Given the description of an element on the screen output the (x, y) to click on. 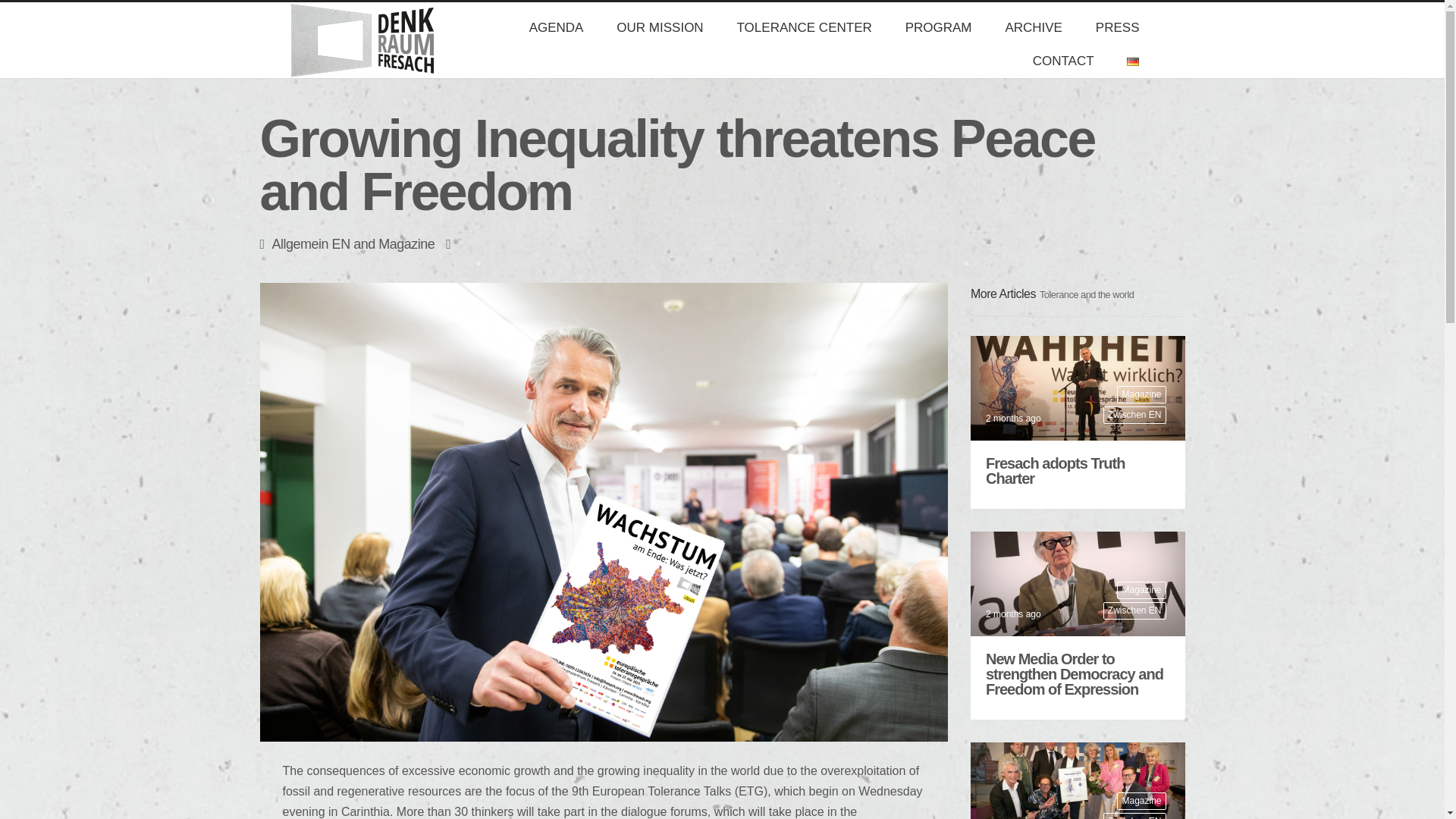
OUR MISSION (659, 28)
PROGRAM (938, 28)
View all posts in Magazine (1141, 394)
Denk.Raum.Fresach (351, 39)
AGENDA (555, 28)
View all posts in Allgemein EN (311, 243)
View all posts in Zwischen EN (1134, 816)
View all posts in Magazine (405, 243)
View all posts in Zwischen EN (1134, 415)
View all posts in Magazine (1141, 589)
TOLERANCE CENTER (804, 28)
Deutsch (1132, 61)
ARCHIVE (1033, 28)
View all posts in Magazine (1141, 800)
View all posts in Zwischen EN (1134, 610)
